Given the description of an element on the screen output the (x, y) to click on. 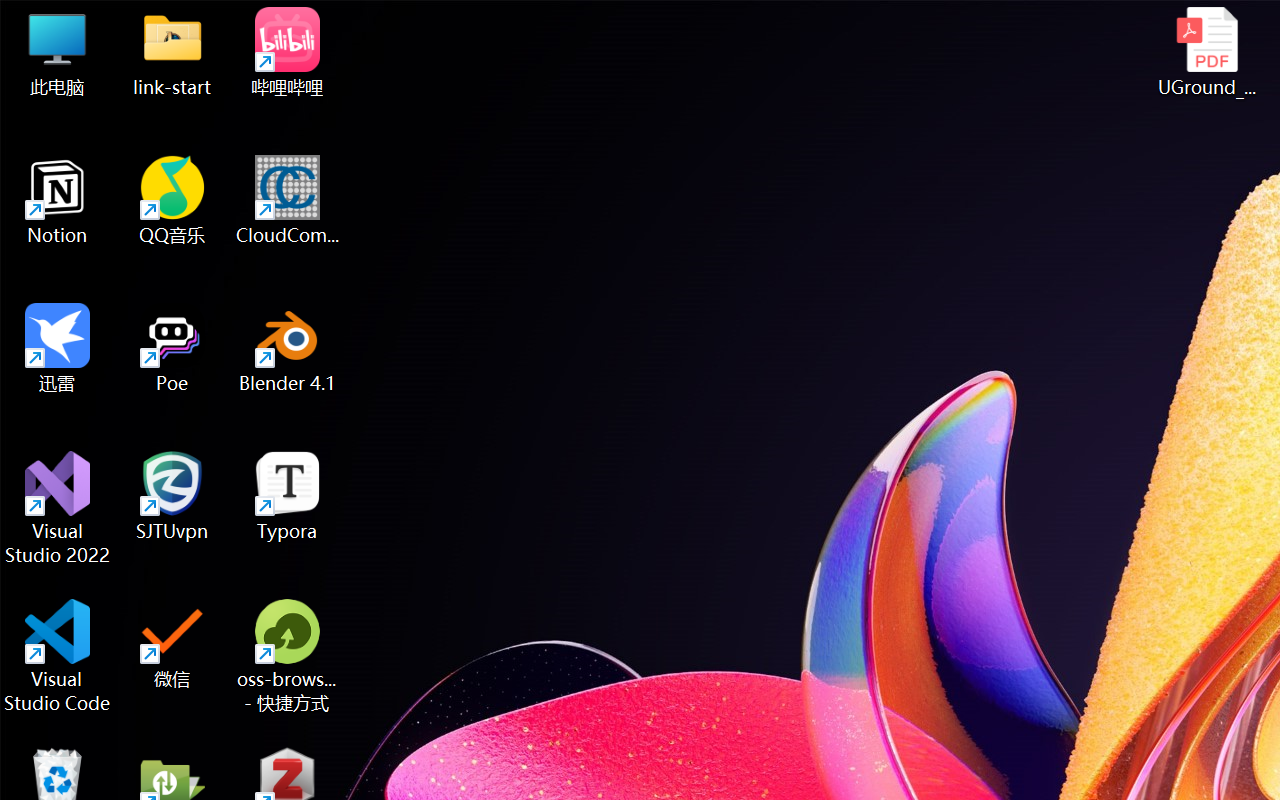
SJTUvpn (172, 496)
Blender 4.1 (287, 348)
UGround_paper.pdf (1206, 52)
Poe (172, 348)
Visual Studio Code (57, 656)
Typora (287, 496)
Notion (57, 200)
Visual Studio 2022 (57, 508)
CloudCompare (287, 200)
